Given the description of an element on the screen output the (x, y) to click on. 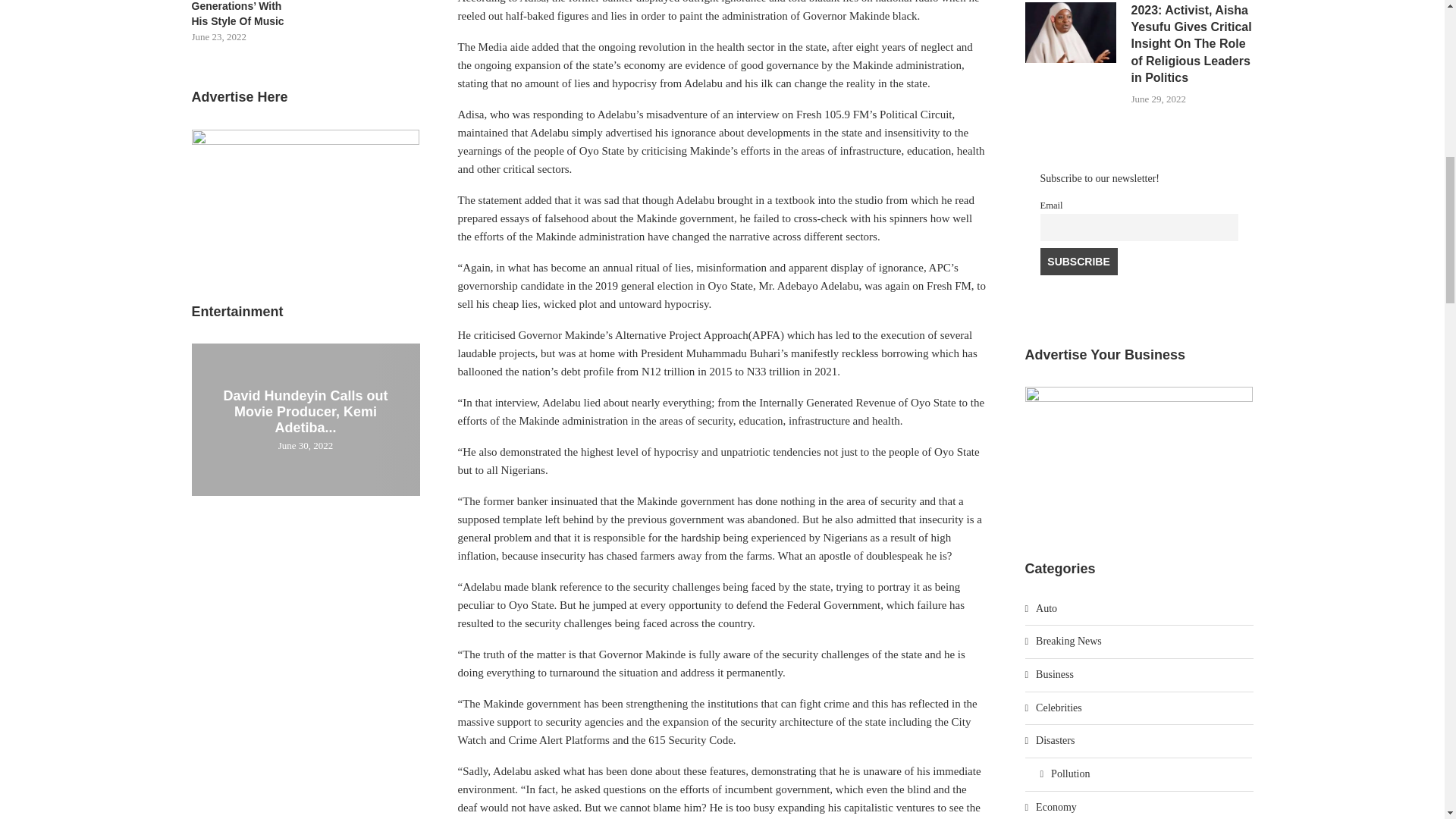
Subscribe (1079, 261)
